Given the description of an element on the screen output the (x, y) to click on. 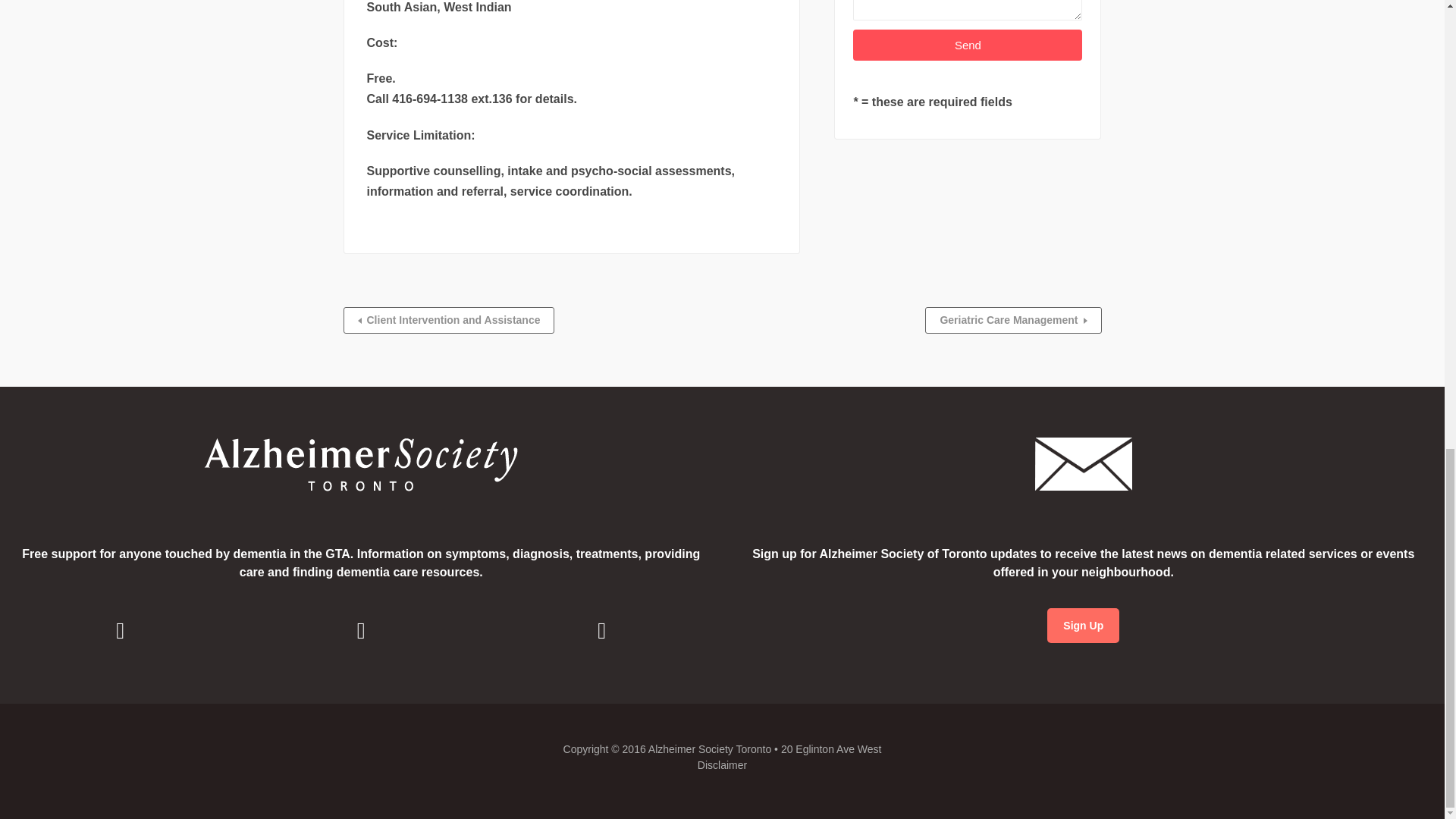
Sign Up (1082, 625)
Geriatric Care Management (1012, 320)
Instagram (360, 630)
AST Email Updates (1082, 625)
Send (967, 44)
Send (967, 44)
Twitter (601, 630)
email-signup-white (1083, 463)
Facebook (120, 630)
Client Intervention and Assistance (448, 320)
Disclaimer (721, 765)
